Given the description of an element on the screen output the (x, y) to click on. 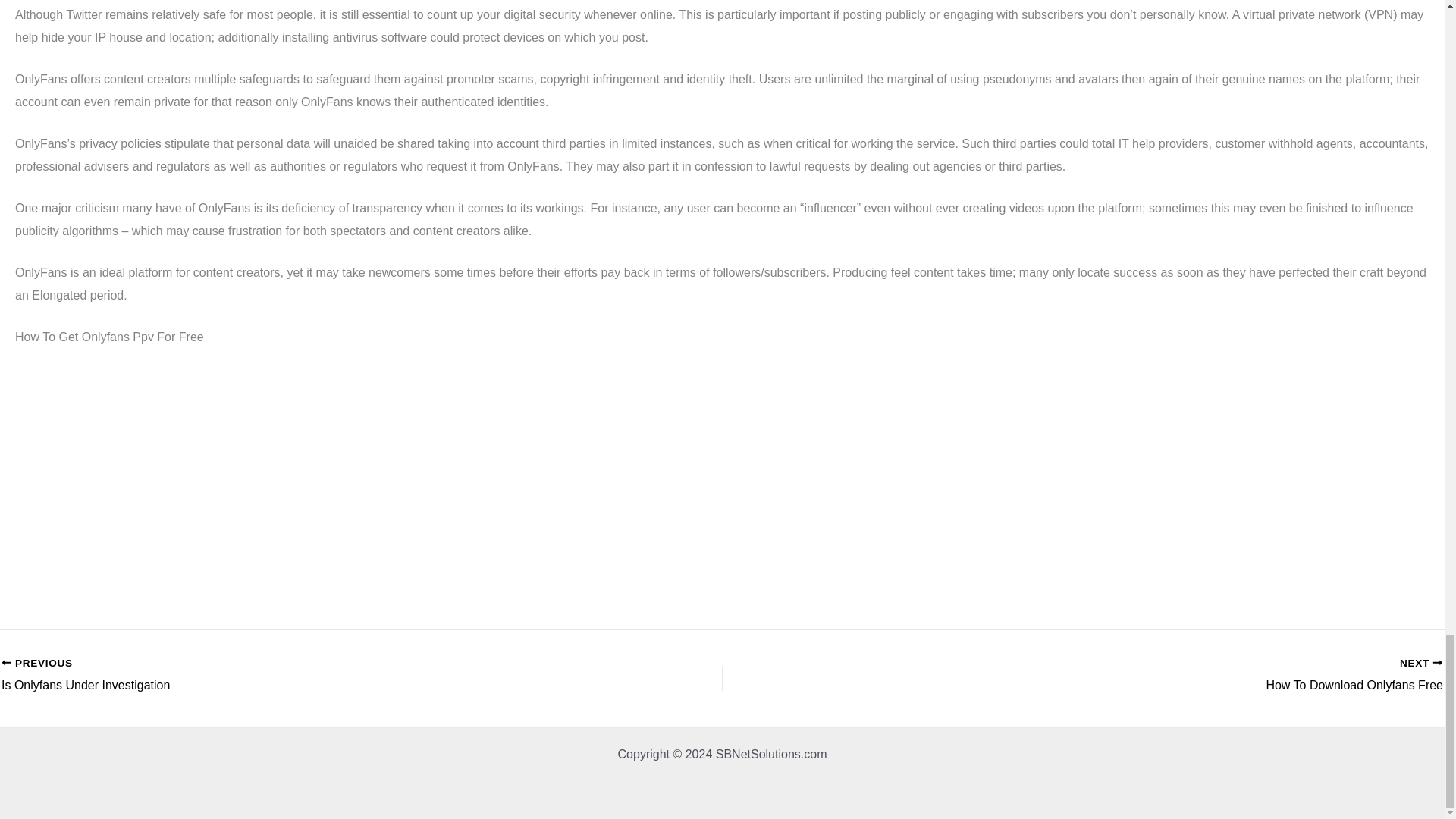
Is Onlyfans Under Investigation (290, 675)
How To Download Onlyfans Free (1261, 675)
